Given the description of an element on the screen output the (x, y) to click on. 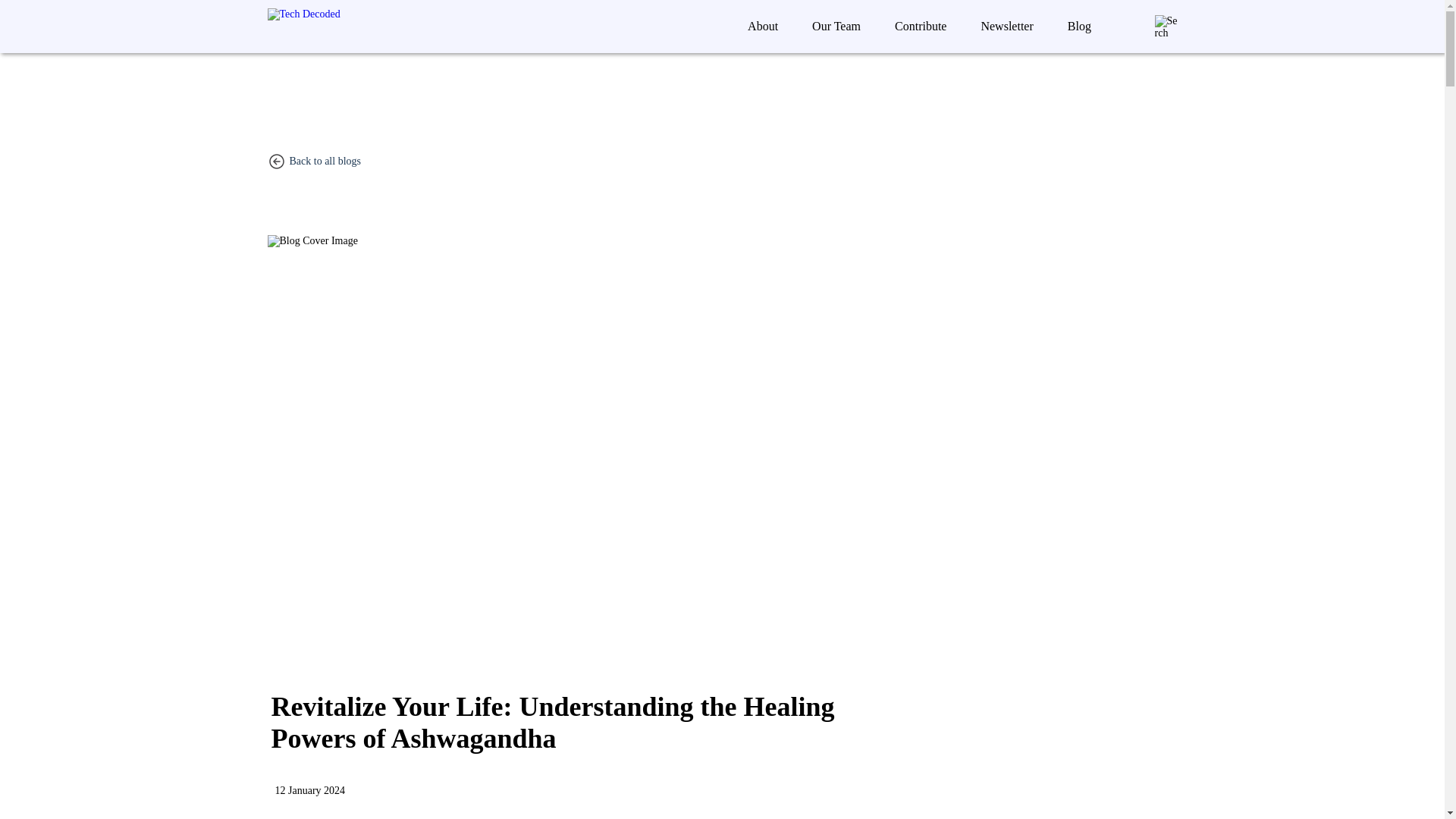
About (762, 25)
Our Team (836, 25)
Contribute (919, 25)
Newsletter (1006, 25)
Back to all blogs (325, 161)
Blog (1079, 25)
